Given the description of an element on the screen output the (x, y) to click on. 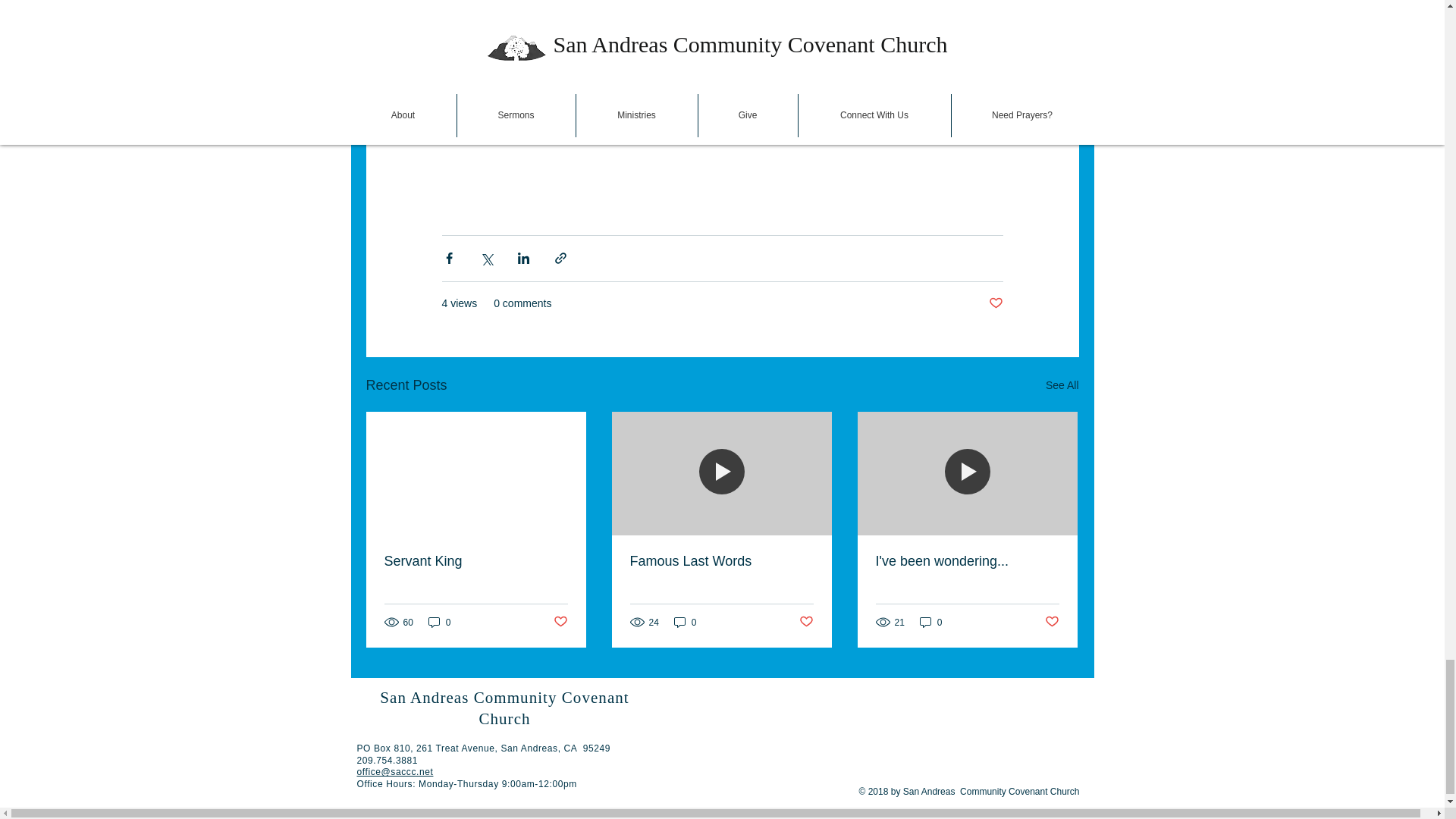
0 (439, 622)
0 (685, 622)
Servant King (475, 561)
Post not marked as liked (560, 621)
I've been wondering... (966, 561)
Post not marked as liked (1052, 621)
See All (1061, 385)
Post not marked as liked (995, 303)
Famous Last Words (720, 561)
Post not marked as liked (806, 621)
